Given the description of an element on the screen output the (x, y) to click on. 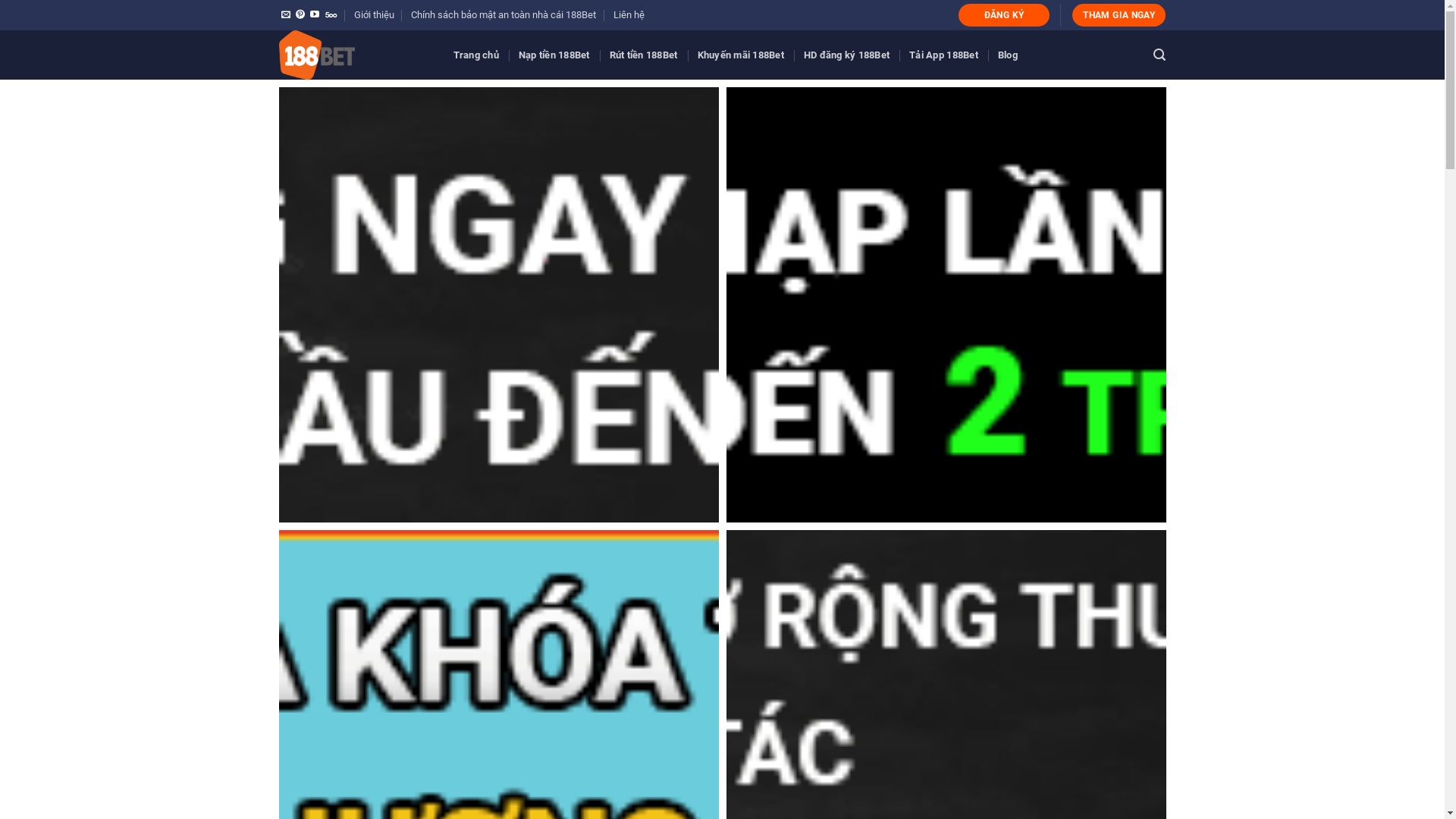
THAM GIA NGAY Element type: text (1118, 14)
Mot88 Element type: hover (946, 304)
Blog Element type: text (1007, 54)
d9bet Element type: hover (498, 304)
